Given the description of an element on the screen output the (x, y) to click on. 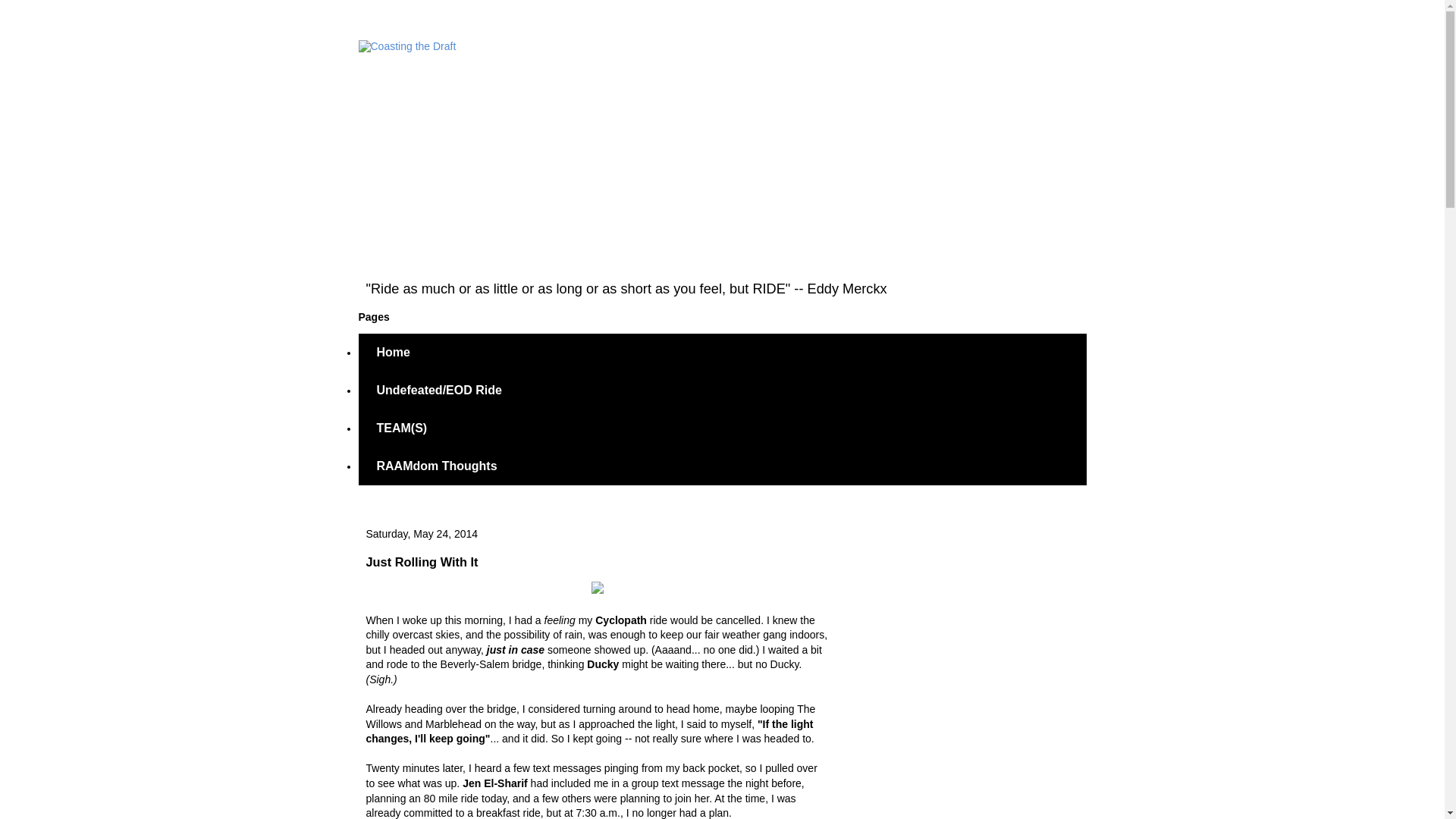
RAAMdom Thoughts (436, 466)
Home (393, 352)
